Given the description of an element on the screen output the (x, y) to click on. 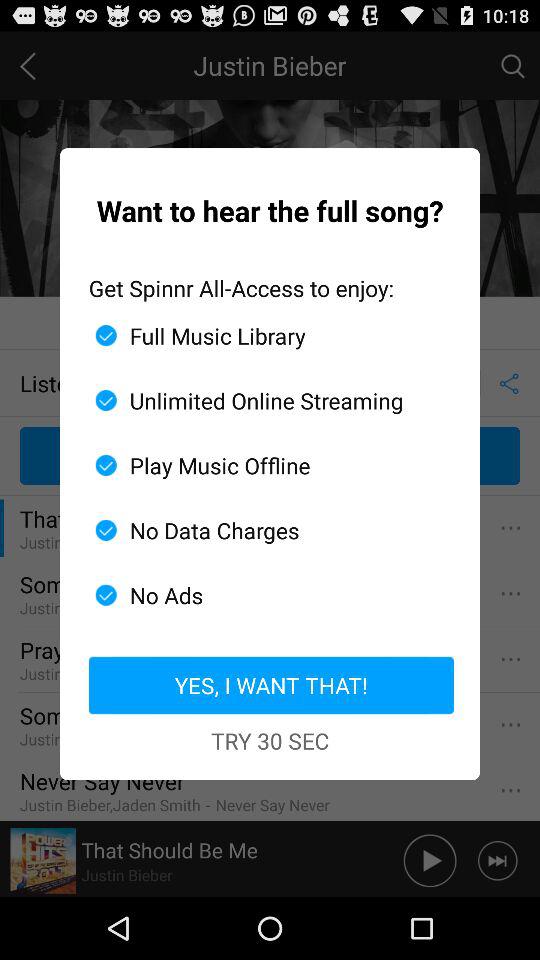
turn off app below the no ads item (270, 685)
